Given the description of an element on the screen output the (x, y) to click on. 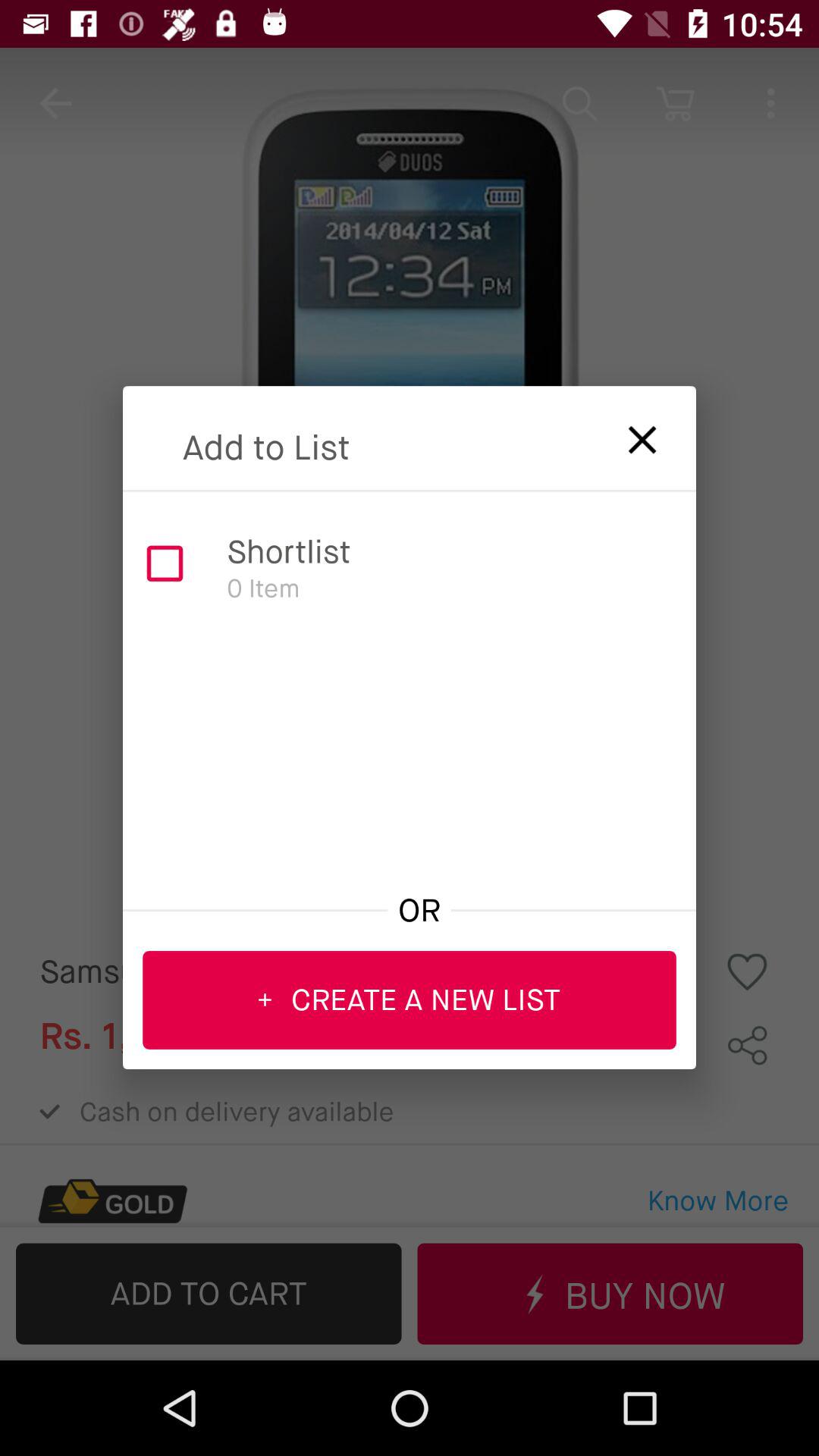
close list selection menu (632, 435)
